Given the description of an element on the screen output the (x, y) to click on. 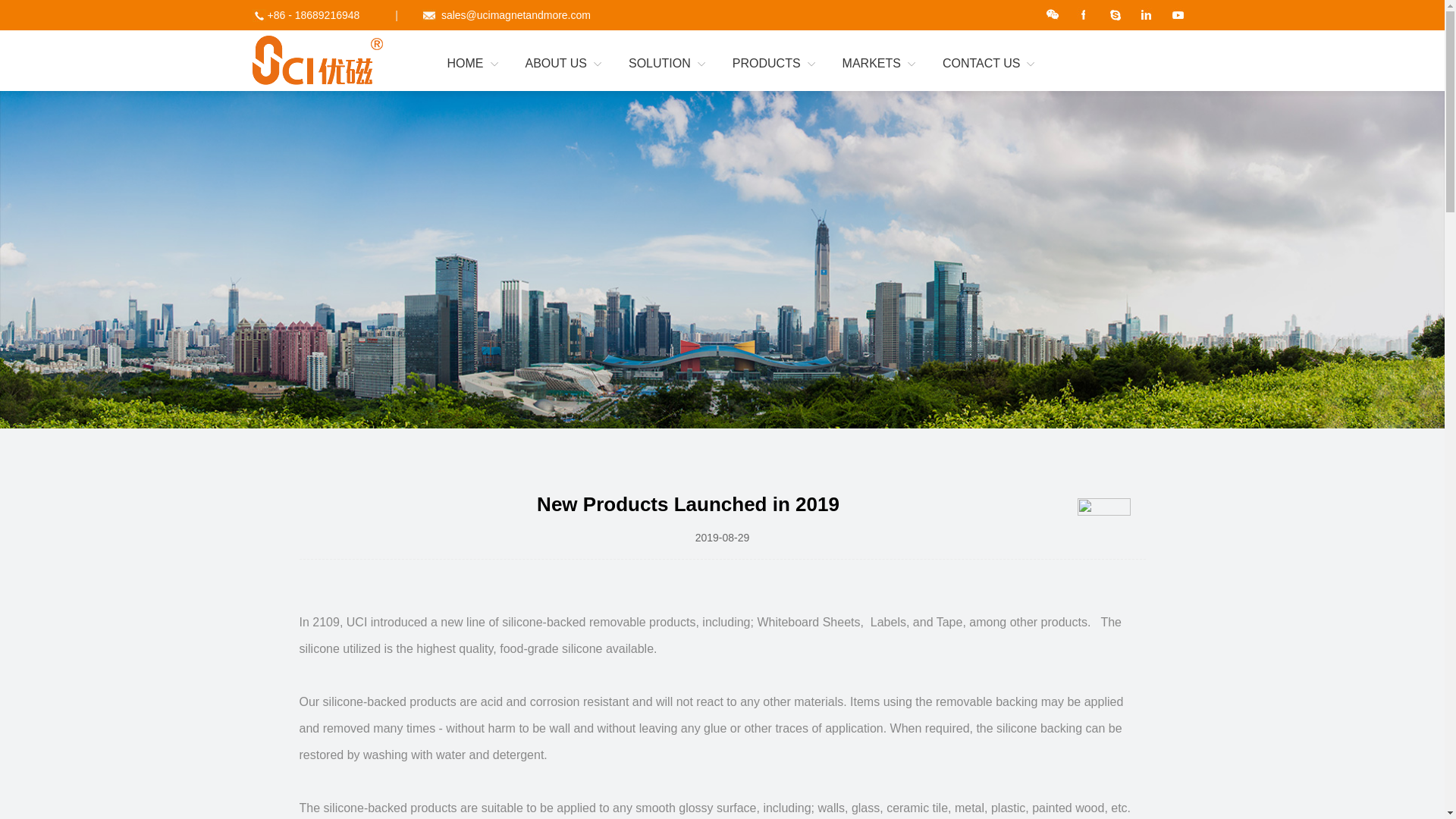
SOLUTION (667, 64)
ABOUT US (563, 64)
CONTACT US (988, 64)
MARKETS (879, 64)
PRODUCTS (773, 64)
